Given the description of an element on the screen output the (x, y) to click on. 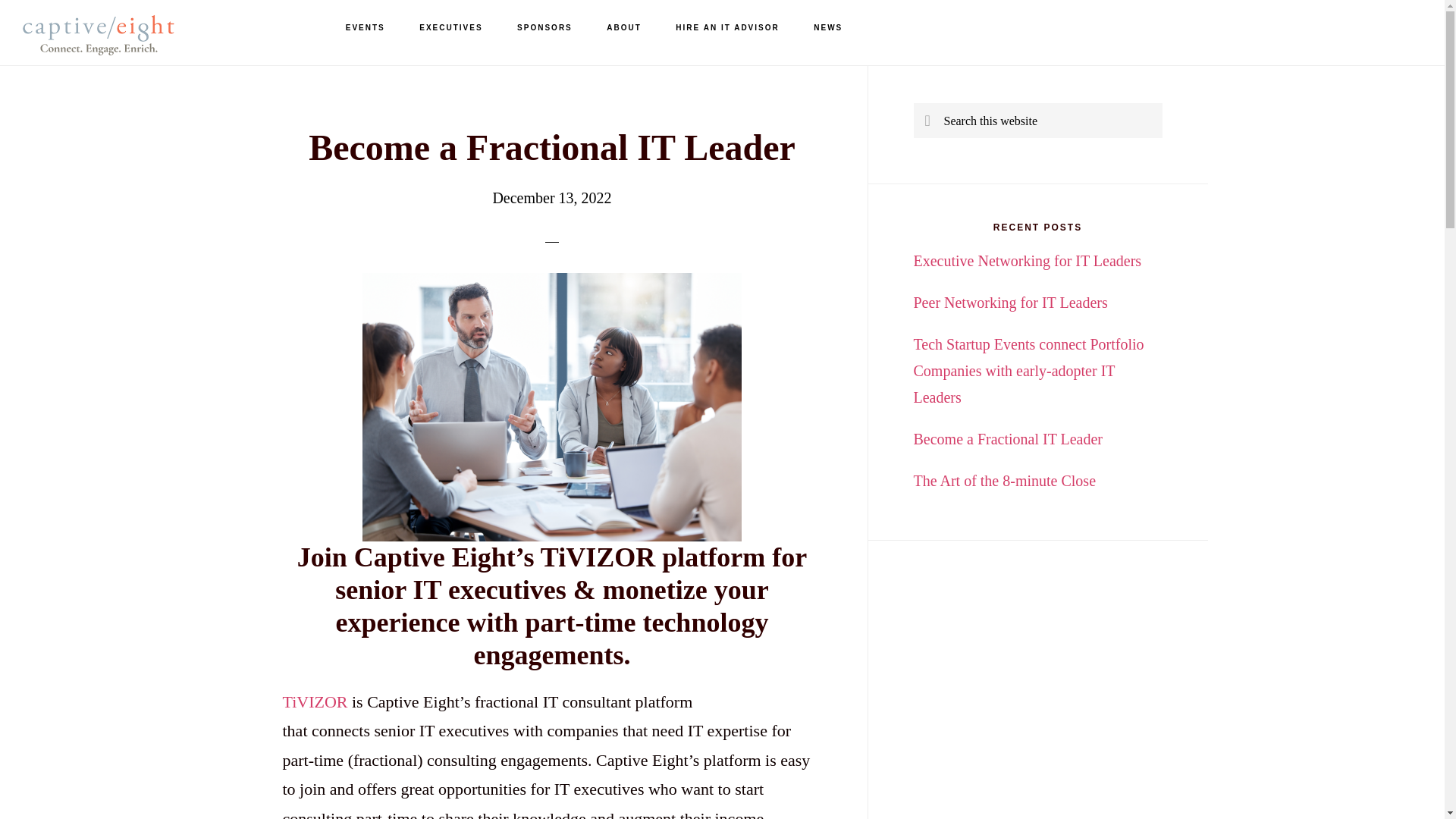
CAPTIVE EIGHT (98, 37)
ABOUT (623, 27)
EXECUTIVES (450, 27)
TiVIZOR (314, 700)
NEWS (827, 27)
SPONSORS (545, 27)
EVENTS (365, 27)
HIRE AN IT ADVISOR (727, 27)
